Given the description of an element on the screen output the (x, y) to click on. 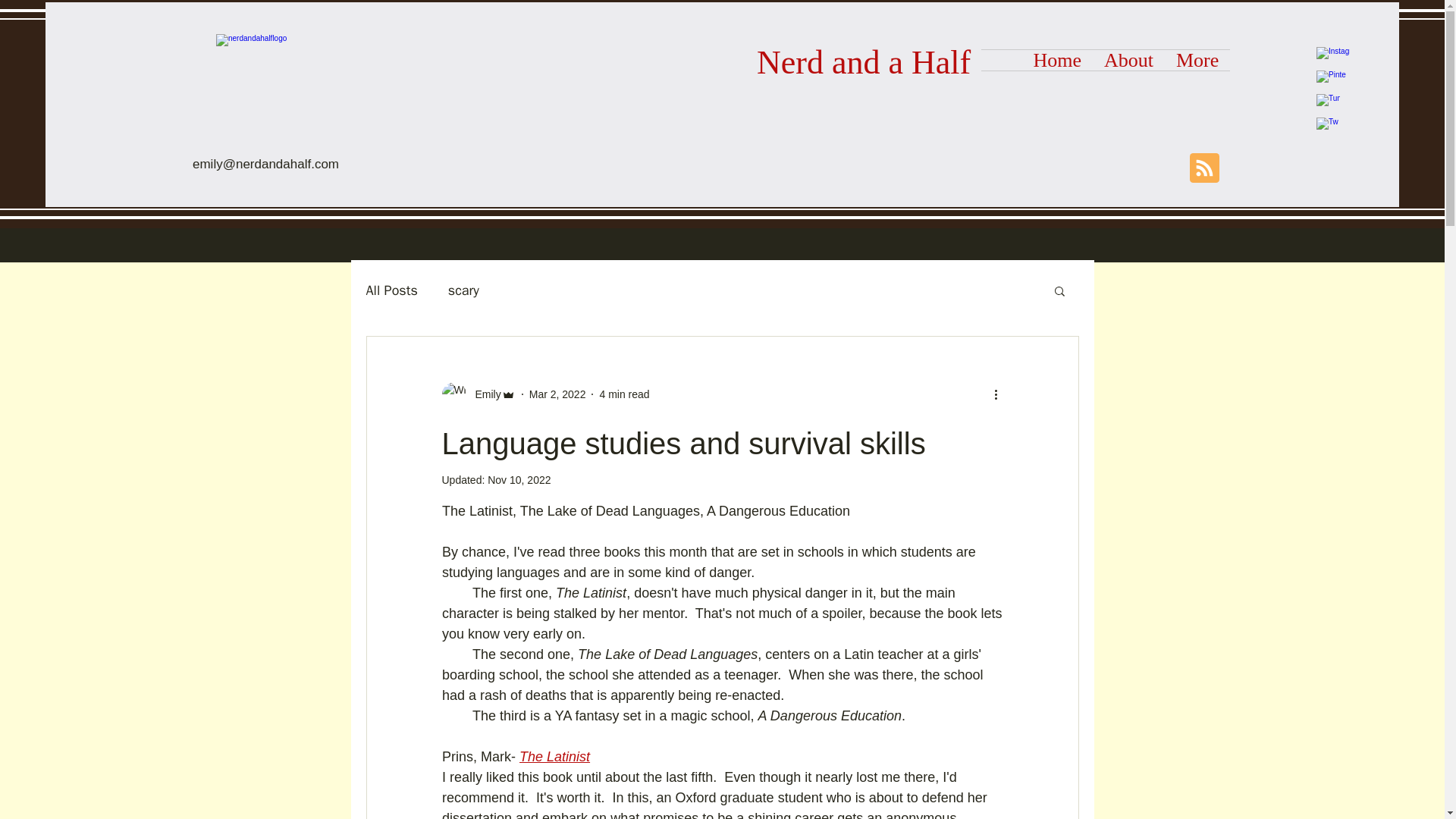
Home (1057, 59)
About (1128, 59)
Mar 2, 2022 (557, 394)
Emily (482, 394)
scary (463, 290)
Nerd and a Half (864, 62)
All Posts (390, 290)
4 min read (623, 394)
Nov 10, 2022 (518, 480)
Emily (478, 394)
